Given the description of an element on the screen output the (x, y) to click on. 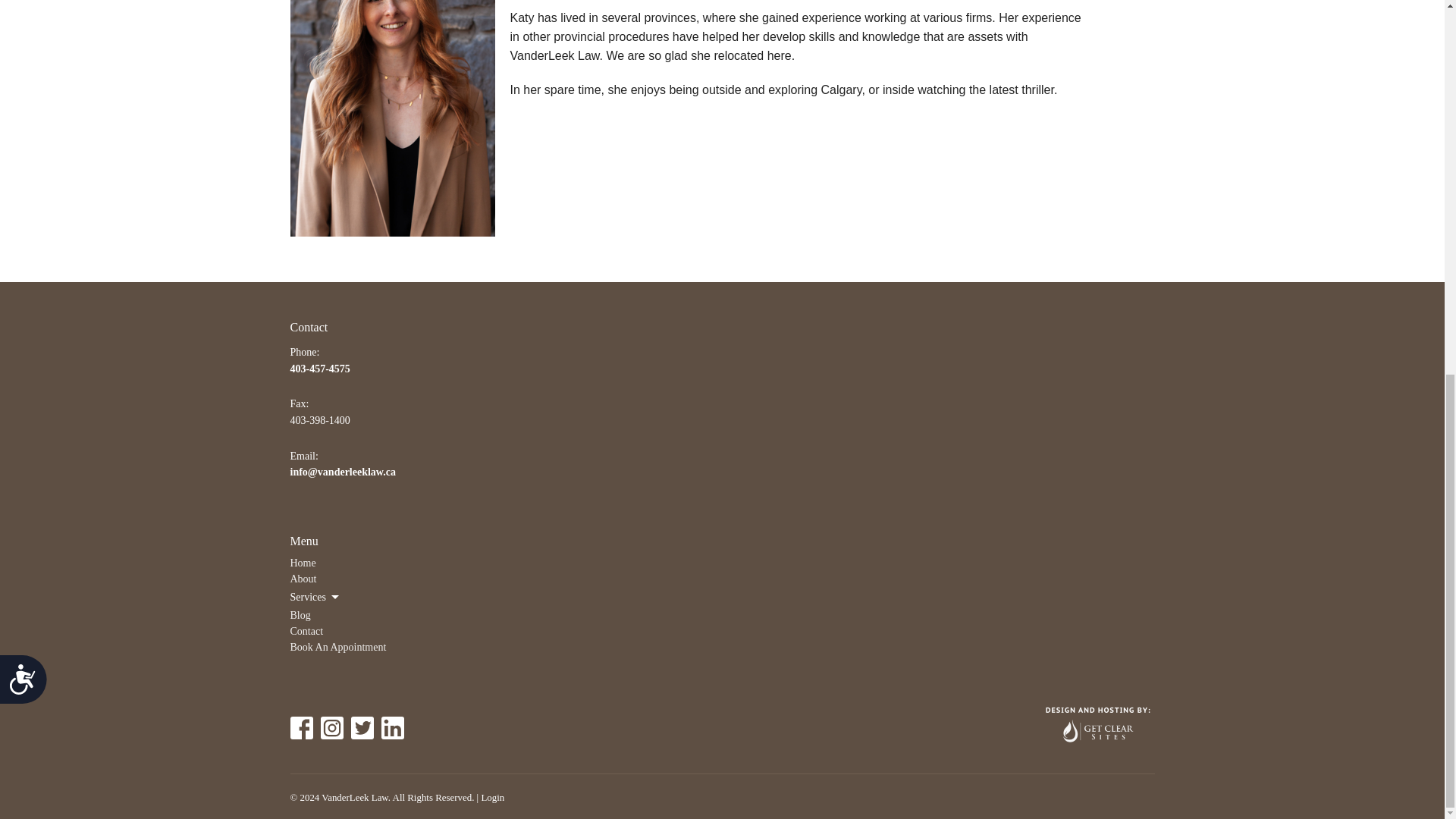
translation missing: en.ui.email (301, 455)
translation missing: en.ui.fax (297, 403)
About (302, 578)
Home (302, 562)
Book An Appointment (337, 646)
Login (491, 797)
Services (314, 597)
Blog (299, 614)
403-457-4575 (319, 368)
Accessibility (29, 13)
Contact (306, 631)
